Given the description of an element on the screen output the (x, y) to click on. 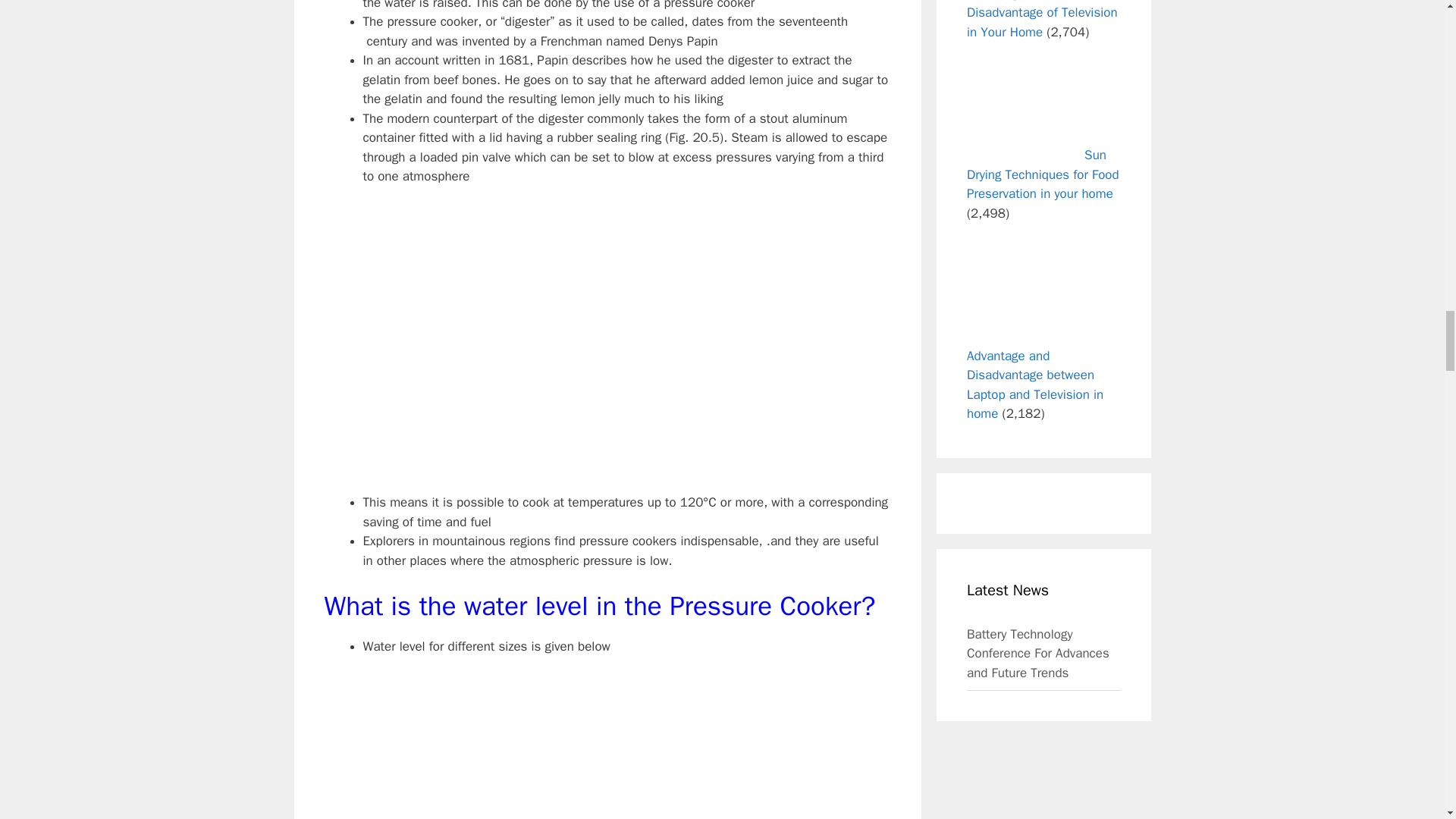
Battery Technology Conference For Advances and Future Trends (1043, 657)
Battery Technology Conference For Advances and Future Trends (1043, 657)
